Given the description of an element on the screen output the (x, y) to click on. 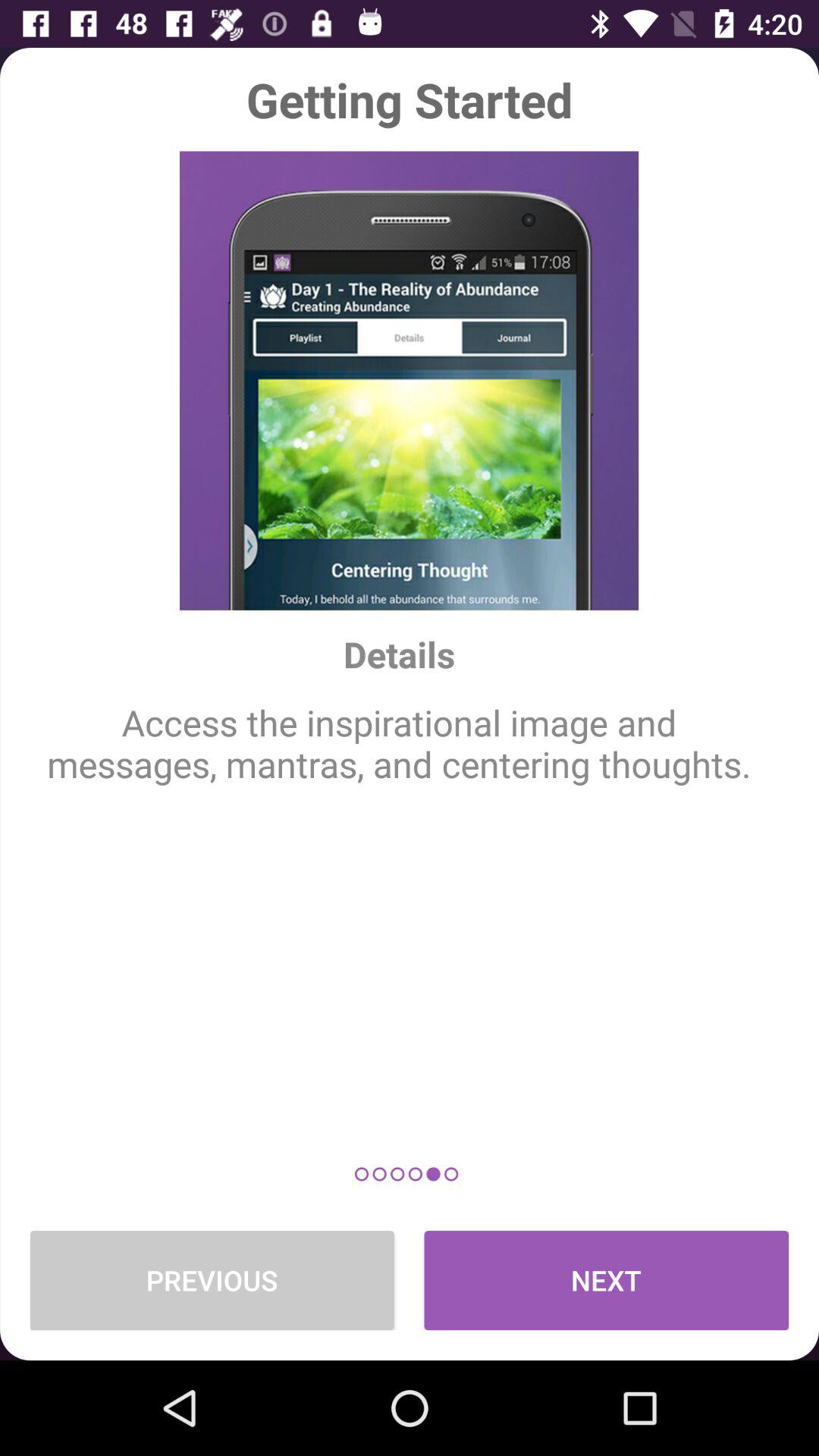
press icon at the bottom left corner (212, 1280)
